Given the description of an element on the screen output the (x, y) to click on. 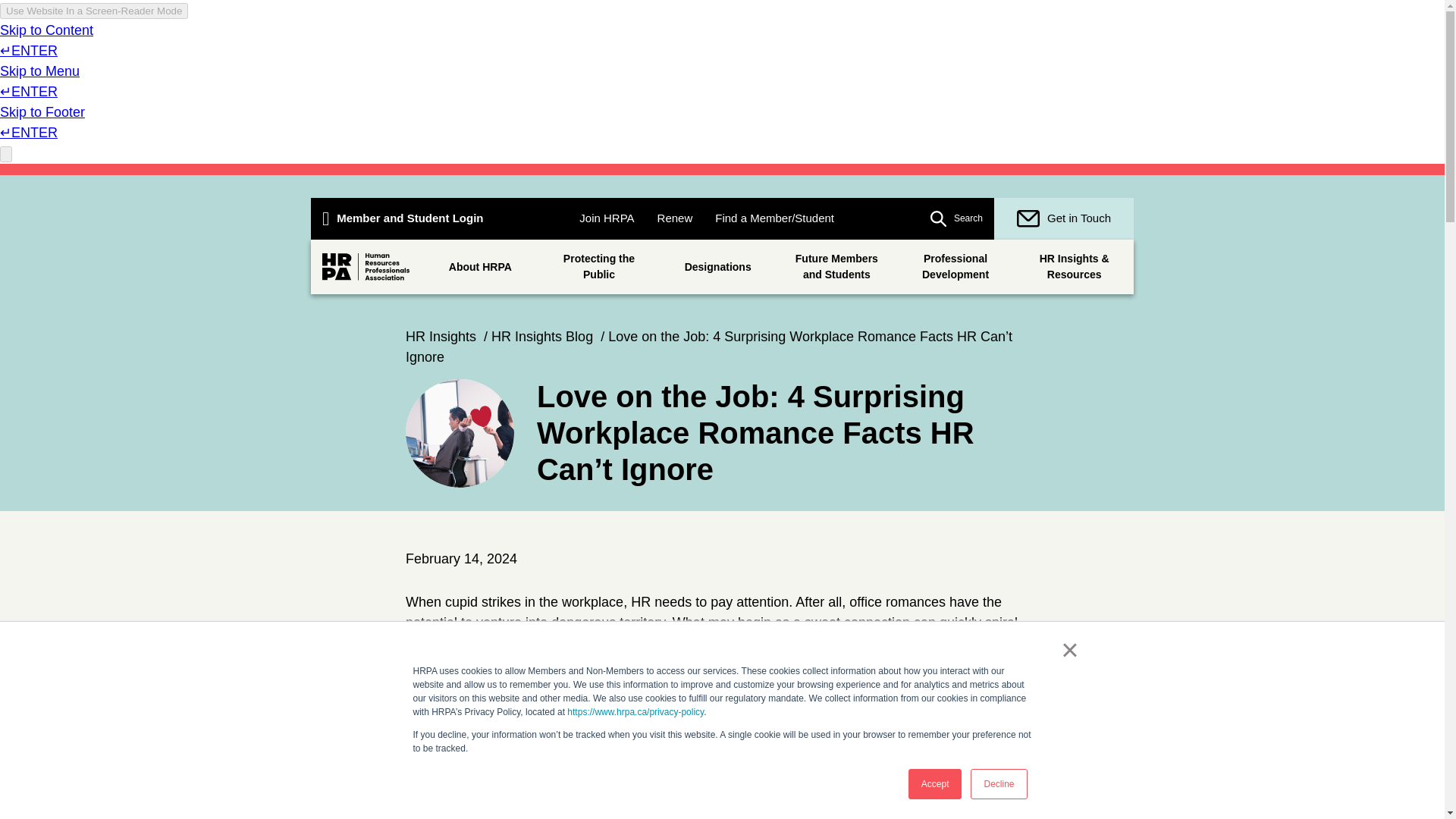
Decline (998, 784)
Join HRPA (606, 218)
Designations (717, 266)
Skip to content (84, 181)
About HRPA (480, 266)
Member and Student Login (403, 218)
About HRPA (480, 266)
Protecting the Public (599, 266)
Search (956, 218)
Get in Touch (1064, 218)
HRPA Home Page (365, 266)
Accept (935, 784)
Renew (675, 218)
Protecting the Public (599, 266)
